Given the description of an element on the screen output the (x, y) to click on. 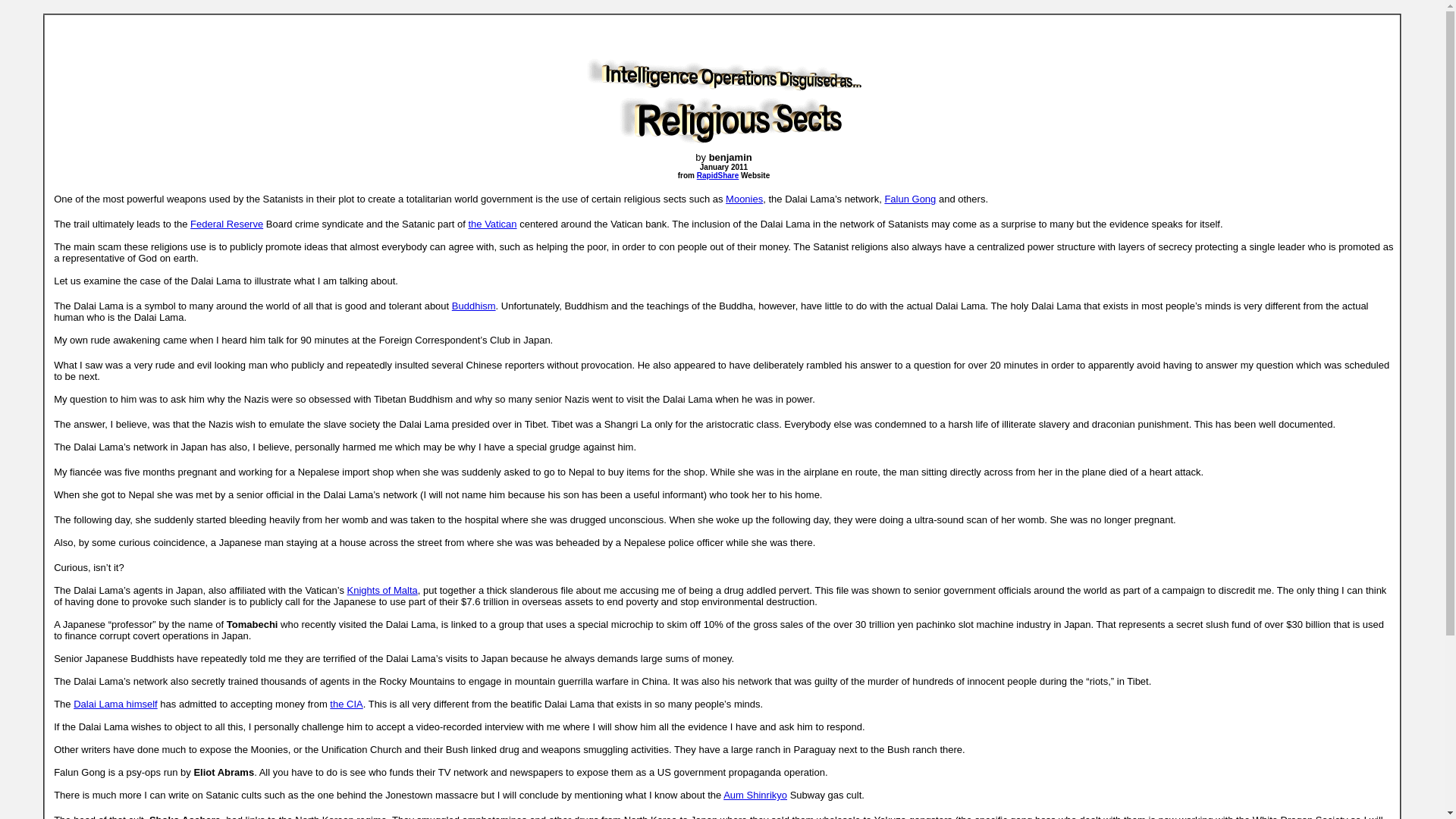
Dalai Lama himself (115, 704)
Buddhism (473, 306)
Knights of Malta (382, 590)
Moonies (743, 198)
the CIA (346, 704)
Aum Shinrikyo (755, 794)
Falun Gong (909, 198)
the Vatican (491, 224)
RapidShare (718, 175)
Federal Reserve (226, 224)
